Given the description of an element on the screen output the (x, y) to click on. 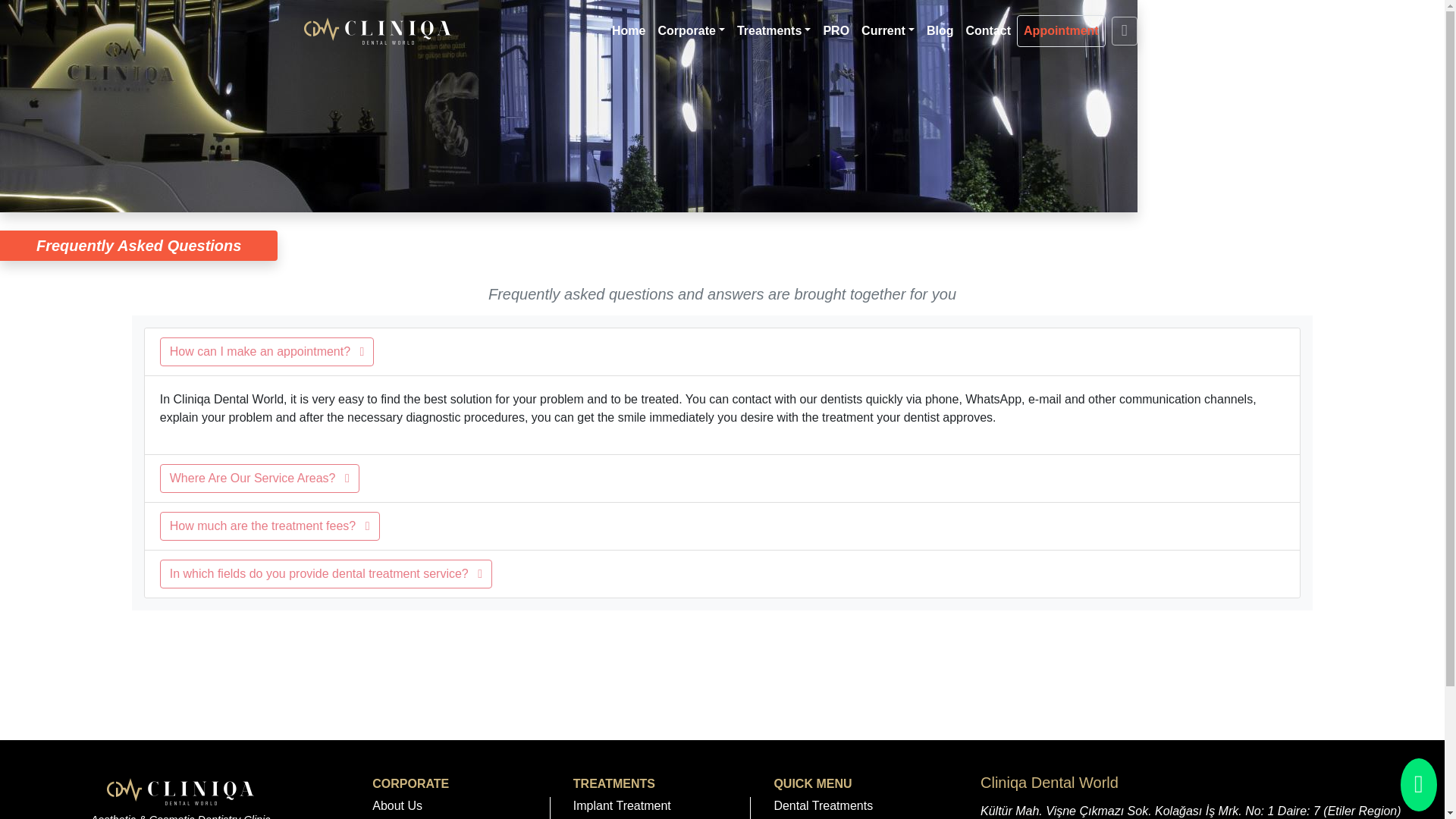
PRO (836, 30)
Treatments (773, 30)
Current (888, 30)
Corporate (690, 30)
Contact (987, 30)
Blog (939, 30)
Appointment (1060, 30)
How can I make an appointment? (267, 351)
Home (627, 30)
